Given the description of an element on the screen output the (x, y) to click on. 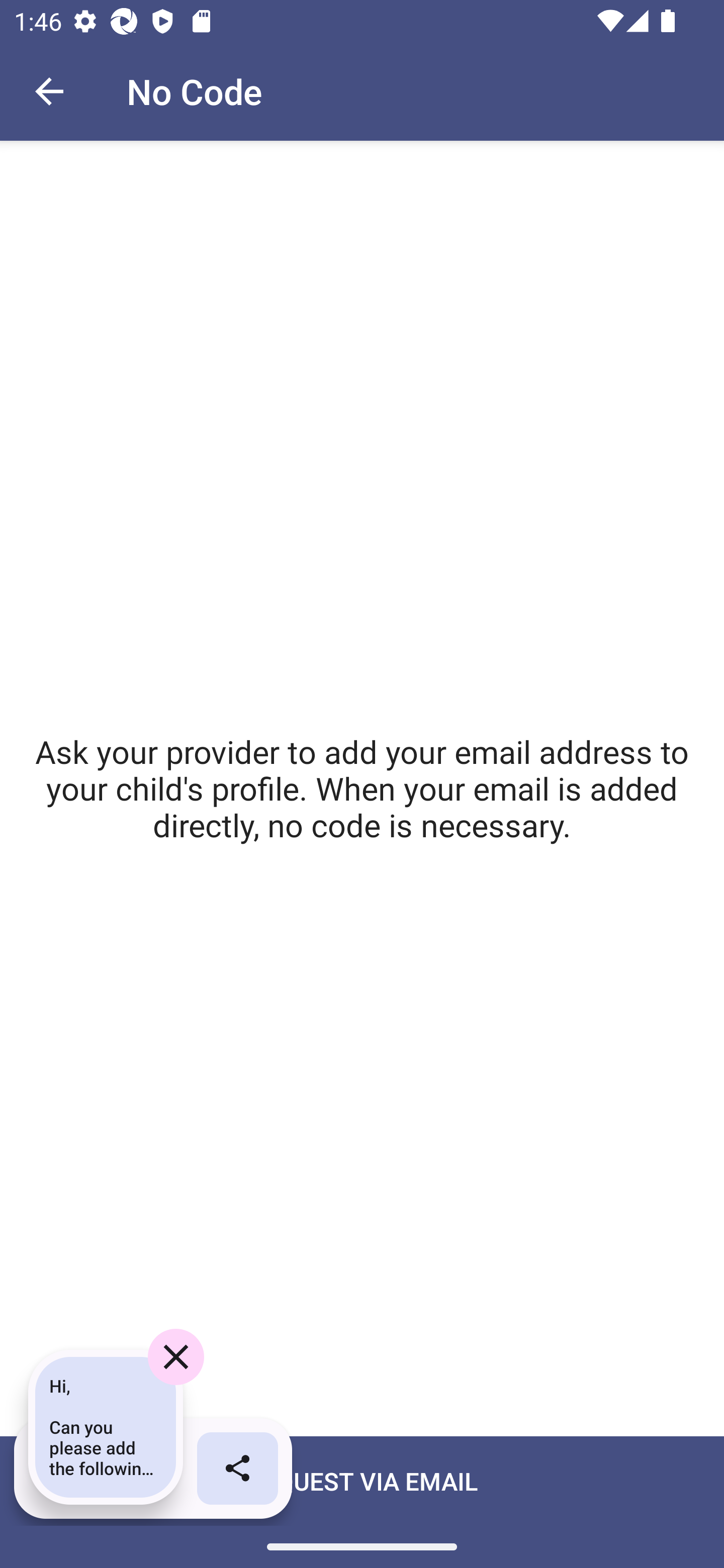
Navigate up (49, 91)
REQUEST VIA EMAIL (362, 1502)
